Given the description of an element on the screen output the (x, y) to click on. 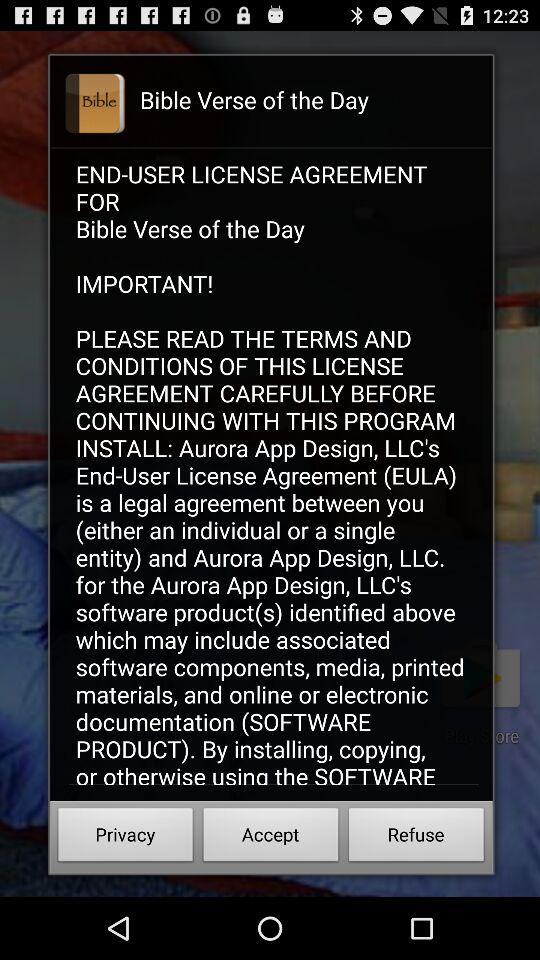
click app below end user license app (125, 837)
